Given the description of an element on the screen output the (x, y) to click on. 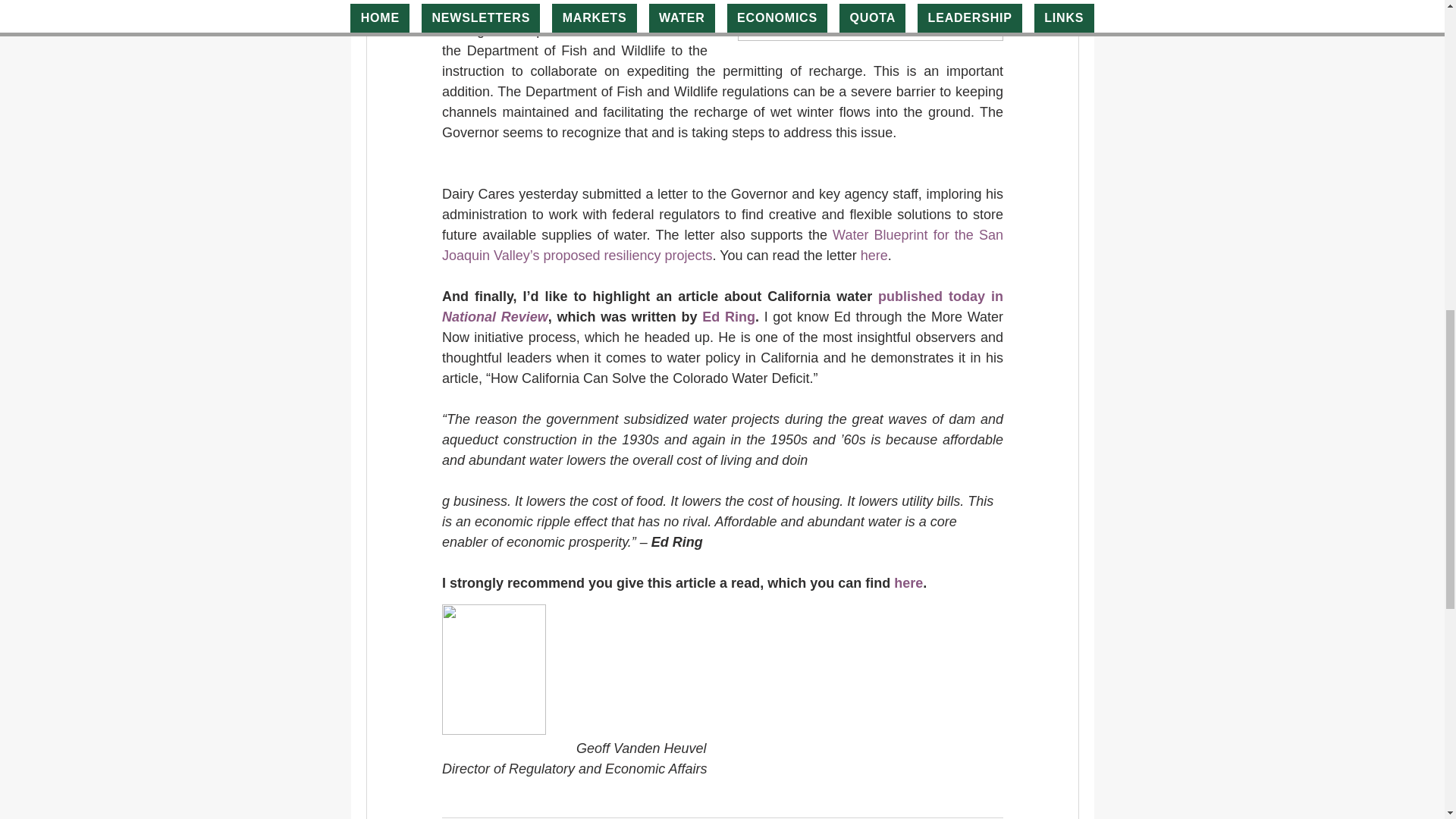
published today in  (942, 296)
National Review (494, 316)
here (908, 582)
here (873, 255)
Ed Ring (728, 316)
